Given the description of an element on the screen output the (x, y) to click on. 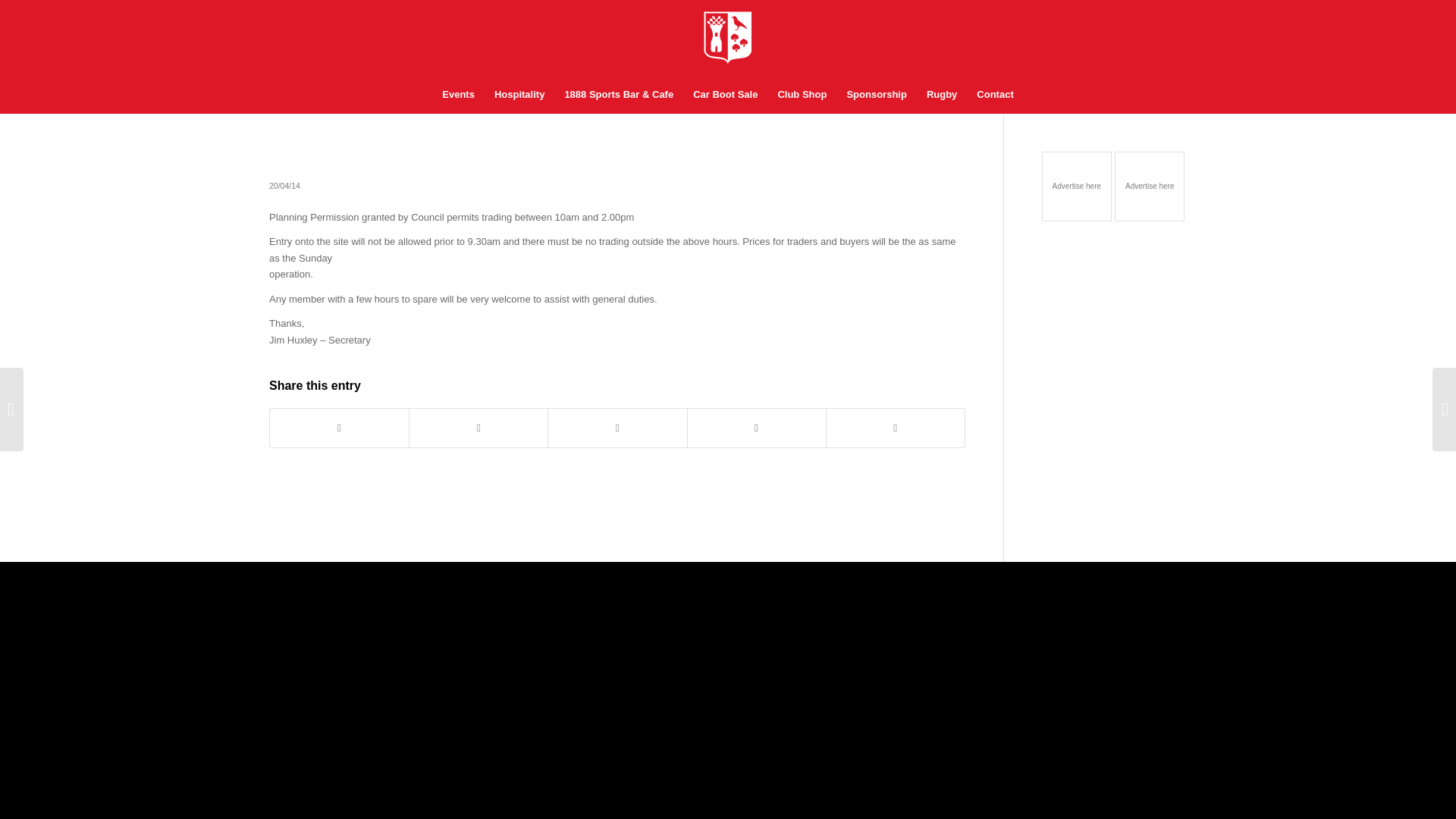
Advertise here (1077, 187)
Rugby (941, 94)
Events (458, 94)
Hospitality (519, 94)
Sponsorship (875, 94)
Contact (994, 94)
Club Shop (801, 94)
Advertise here (1150, 187)
Car Boot Sale (724, 94)
